Given the description of an element on the screen output the (x, y) to click on. 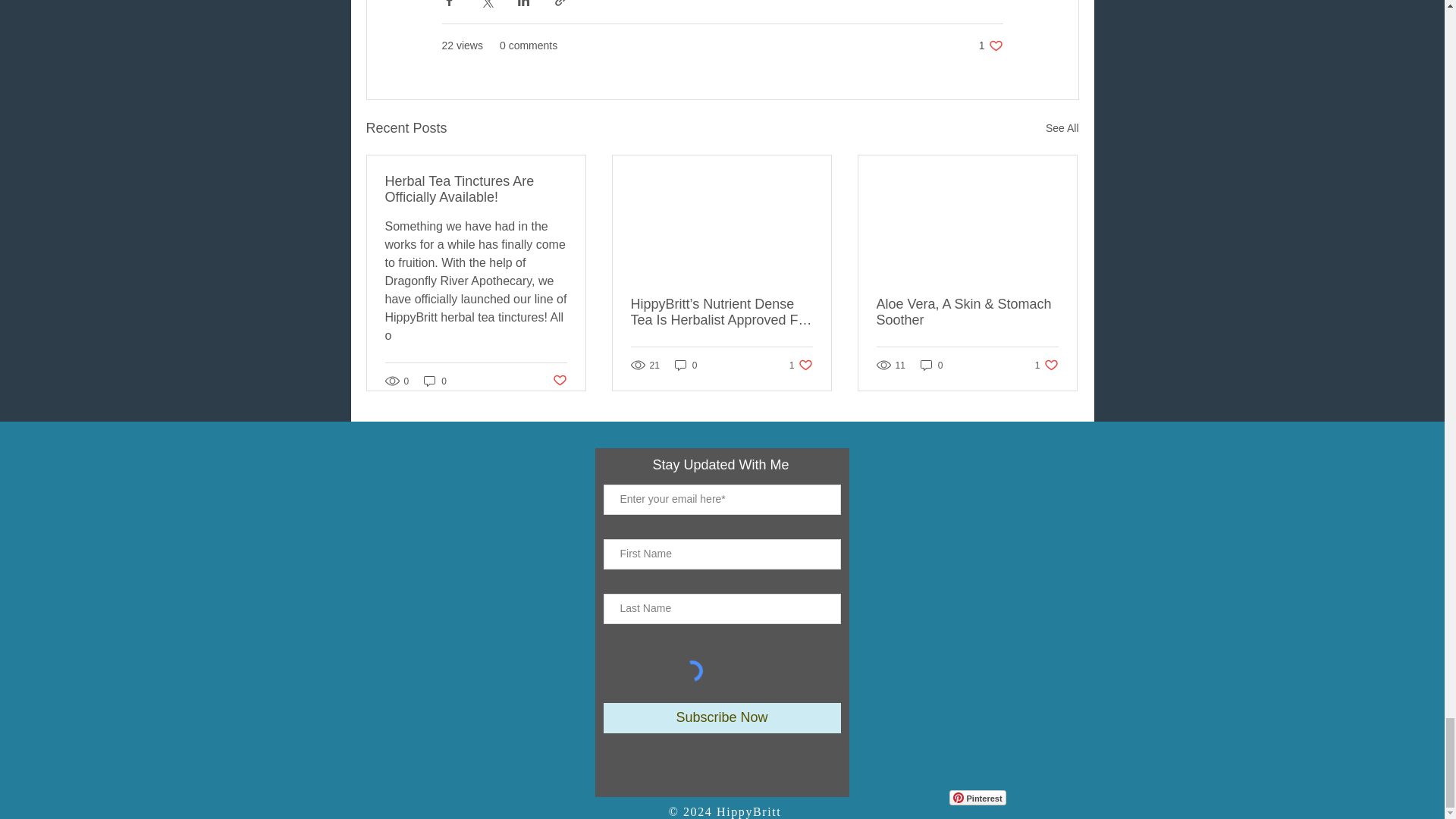
See All (990, 45)
Pinterest (1061, 128)
Post not marked as liked (977, 797)
0 (558, 381)
Herbal Tea Tinctures Are Officially Available! (435, 380)
